Given the description of an element on the screen output the (x, y) to click on. 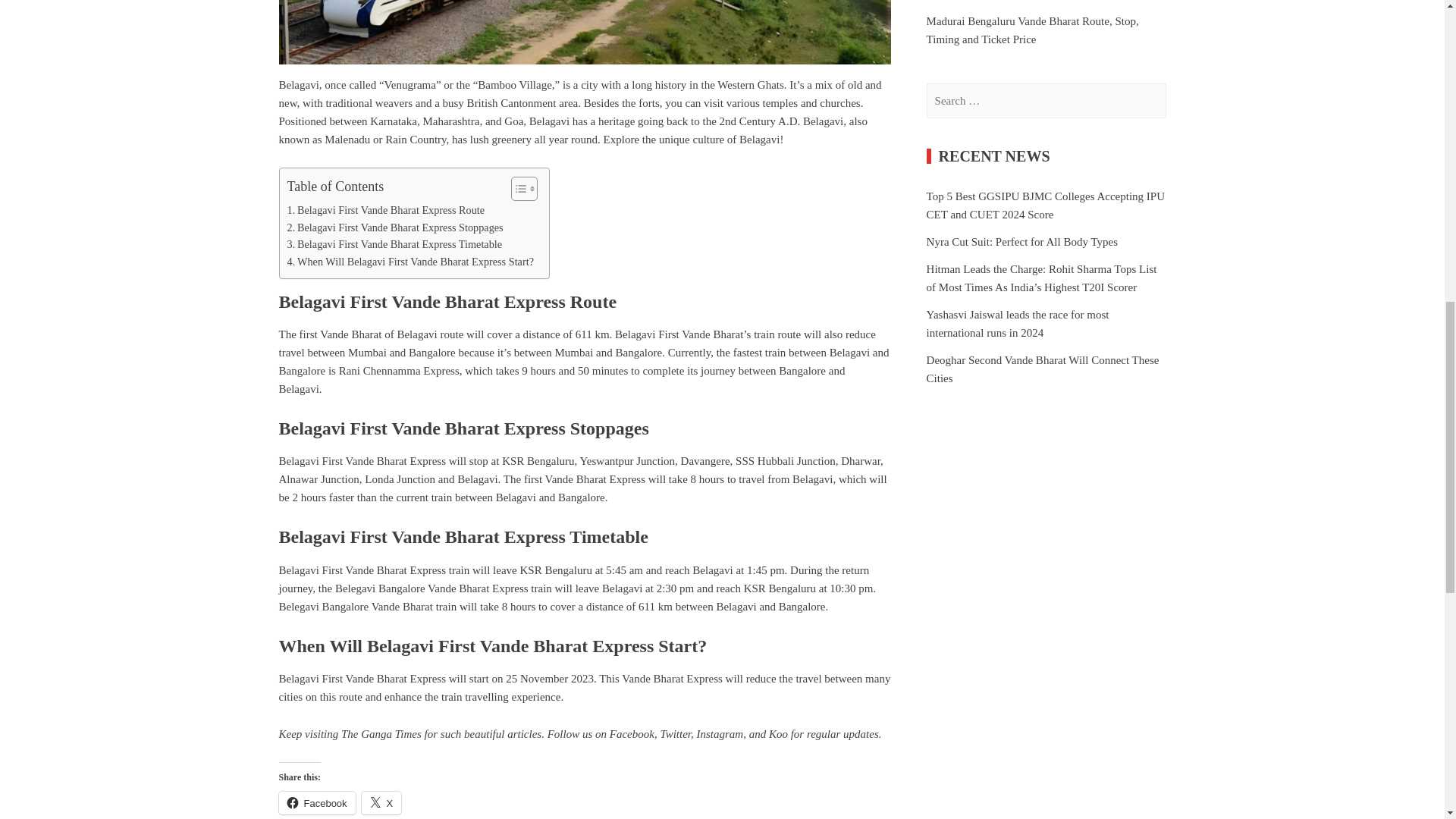
Belagavi First Vande Bharat Express Stoppages (394, 227)
Belagavi First Vande Bharat Express Stoppages (394, 227)
Instagram (718, 734)
When Will Belagavi First Vande Bharat Express Start? (409, 262)
Belagavi First Vande Bharat Express Route (385, 210)
Koo (777, 734)
The Ganga Times (381, 734)
Click to share on Facebook (317, 802)
X (381, 802)
Facebook (317, 802)
Belagavi First Vande Bharat Express Route (385, 210)
Click to share on X (381, 802)
Belagavi First Vande Bharat Express Timetable  (394, 244)
When Will Belagavi First Vande Bharat Express Start? (409, 262)
Facebook (631, 734)
